Given the description of an element on the screen output the (x, y) to click on. 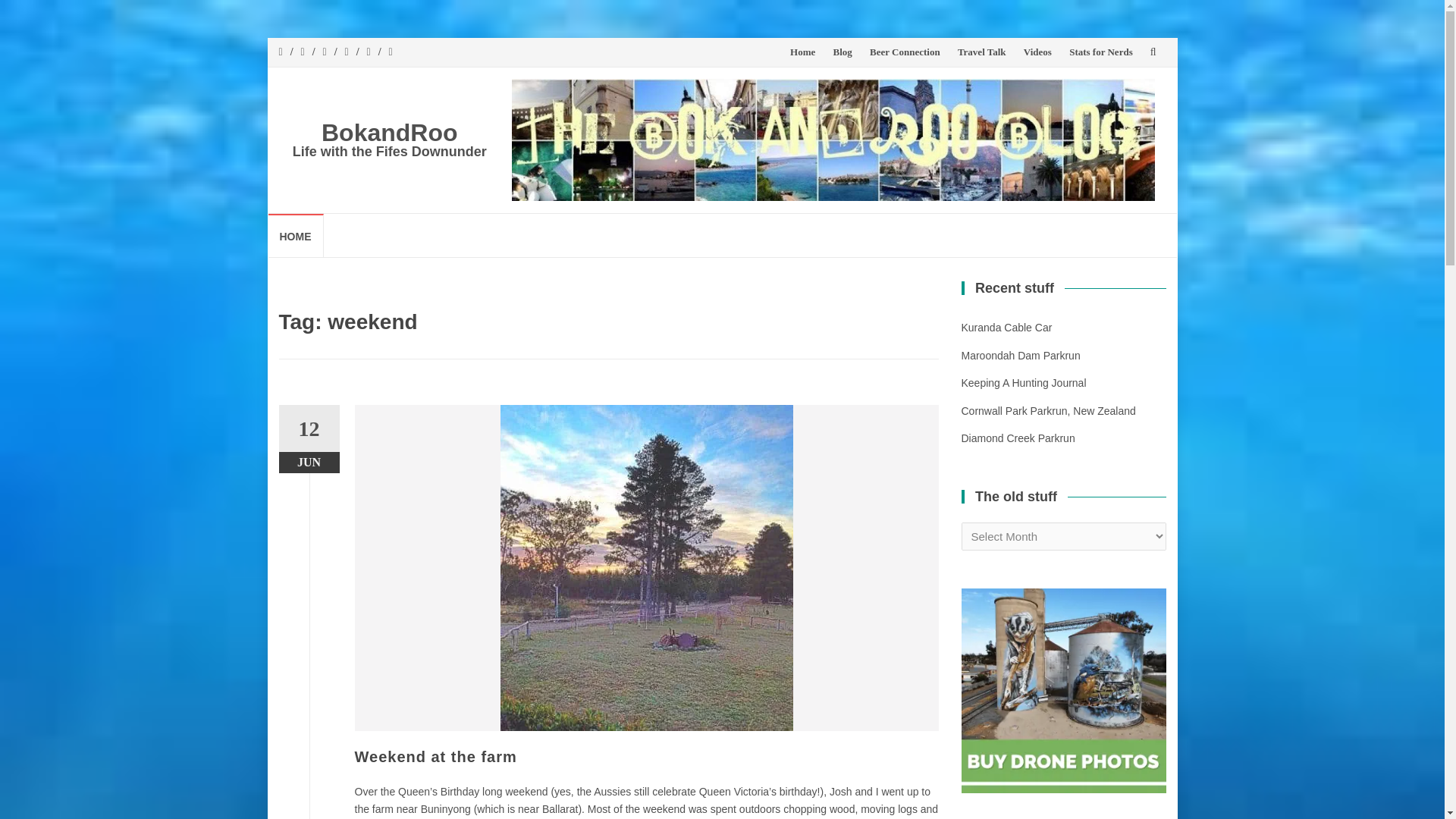
Travel Talk (982, 51)
Beer Connection (904, 51)
BokandRoo (389, 132)
Blog (841, 51)
Weekend at the farm (435, 756)
Stats for Nerds (1100, 51)
Videos (1037, 51)
BokandRoo (389, 132)
HOME (295, 235)
